Given the description of an element on the screen output the (x, y) to click on. 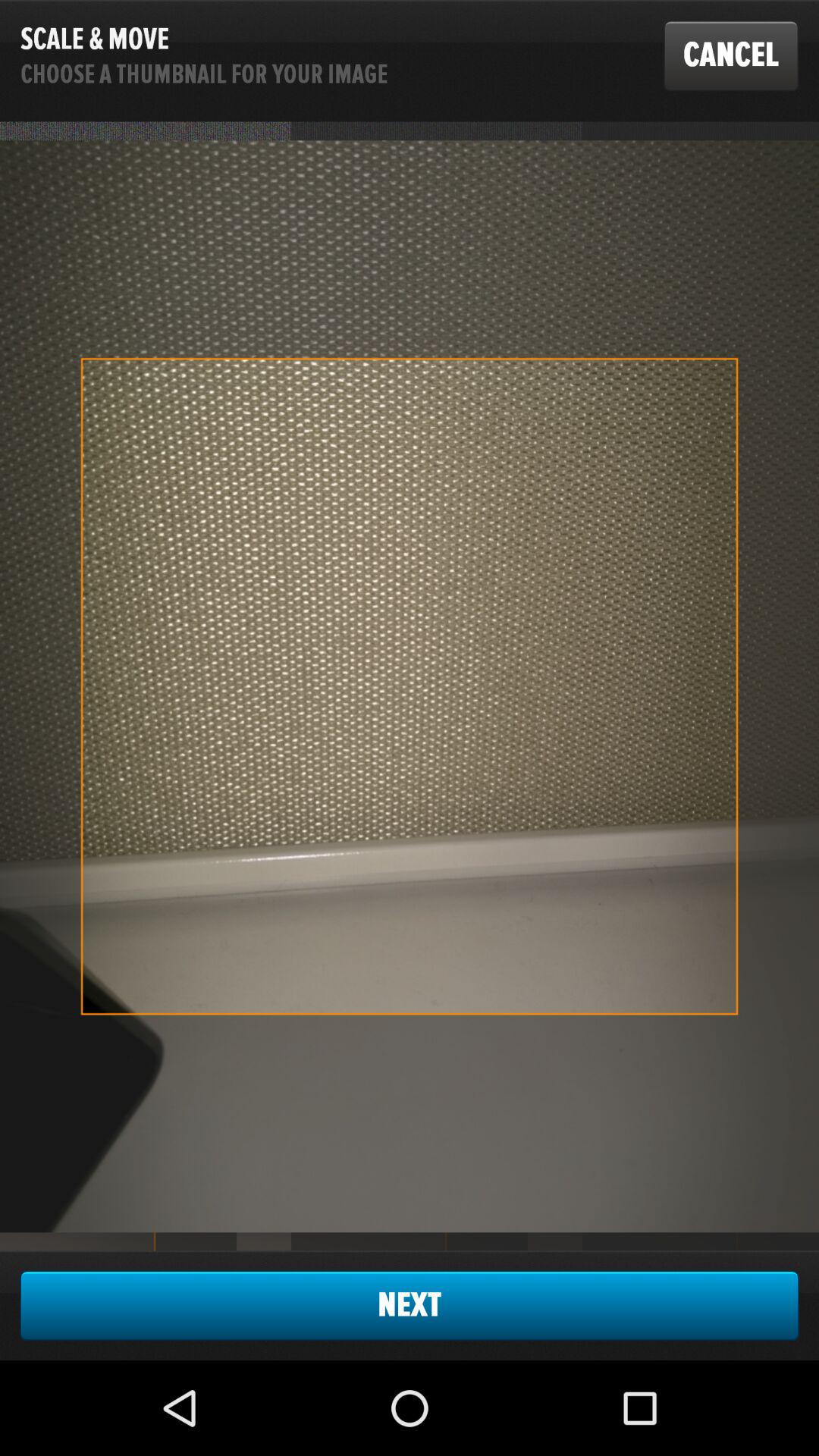
launch the item next to the choose a thumbnail icon (730, 55)
